Given the description of an element on the screen output the (x, y) to click on. 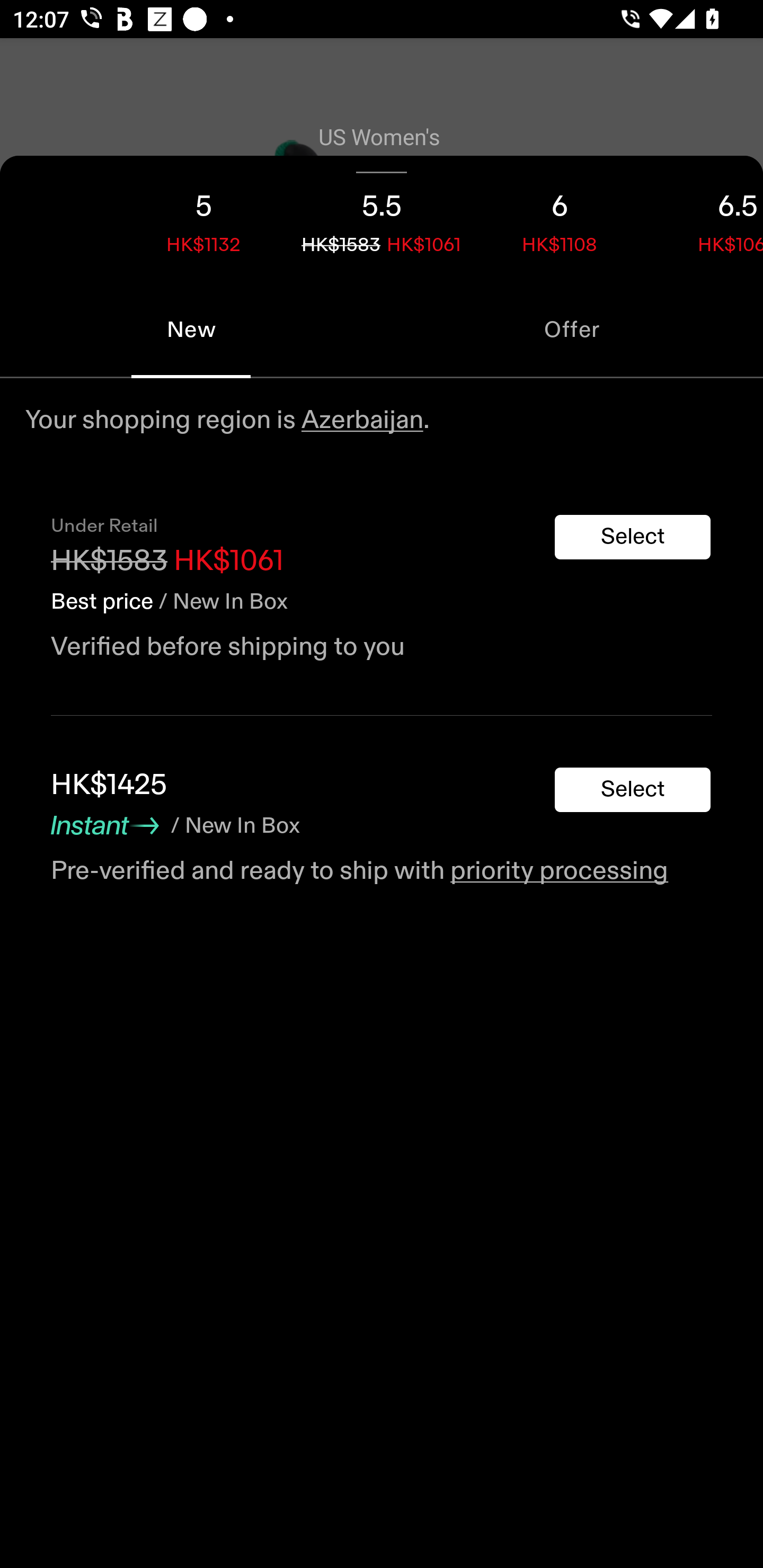
5 HK$1132 (203, 218)
5.5 HK$1583 HK$1061 (381, 218)
6 HK$1108 (559, 218)
6.5 HK$1068 (705, 218)
Offer (572, 329)
Select (632, 536)
HK$1425 (109, 785)
Select (632, 789)
